Given the description of an element on the screen output the (x, y) to click on. 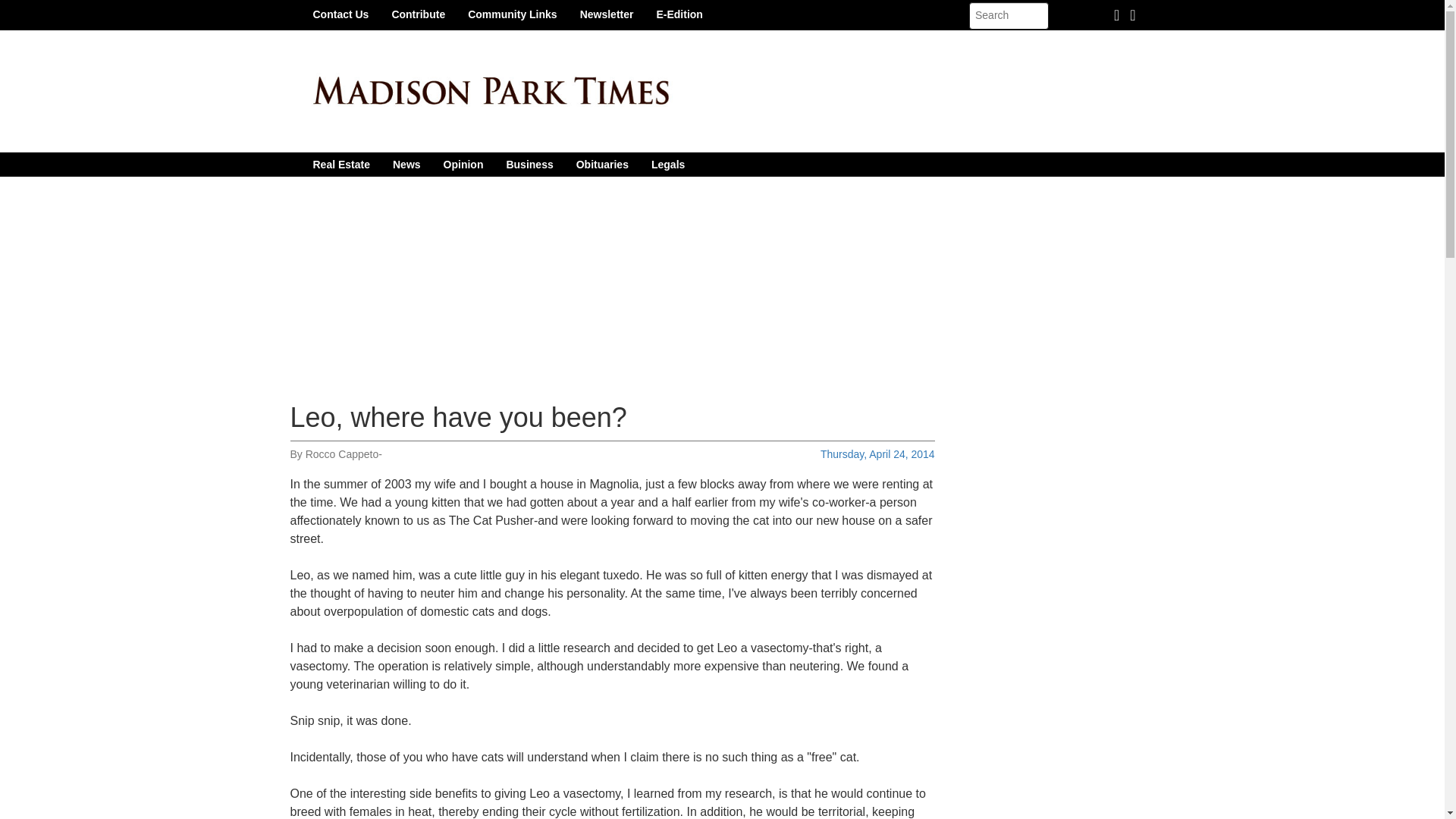
News (406, 164)
E-Edition (679, 14)
Thursday, April 24, 2014 (877, 453)
Real Estate (341, 164)
Contribute (418, 14)
Newsletter (607, 14)
Obituaries (602, 164)
Opinion (463, 164)
Business (529, 164)
Community Links (512, 14)
Legals (667, 164)
Contact Us (340, 14)
